Given the description of an element on the screen output the (x, y) to click on. 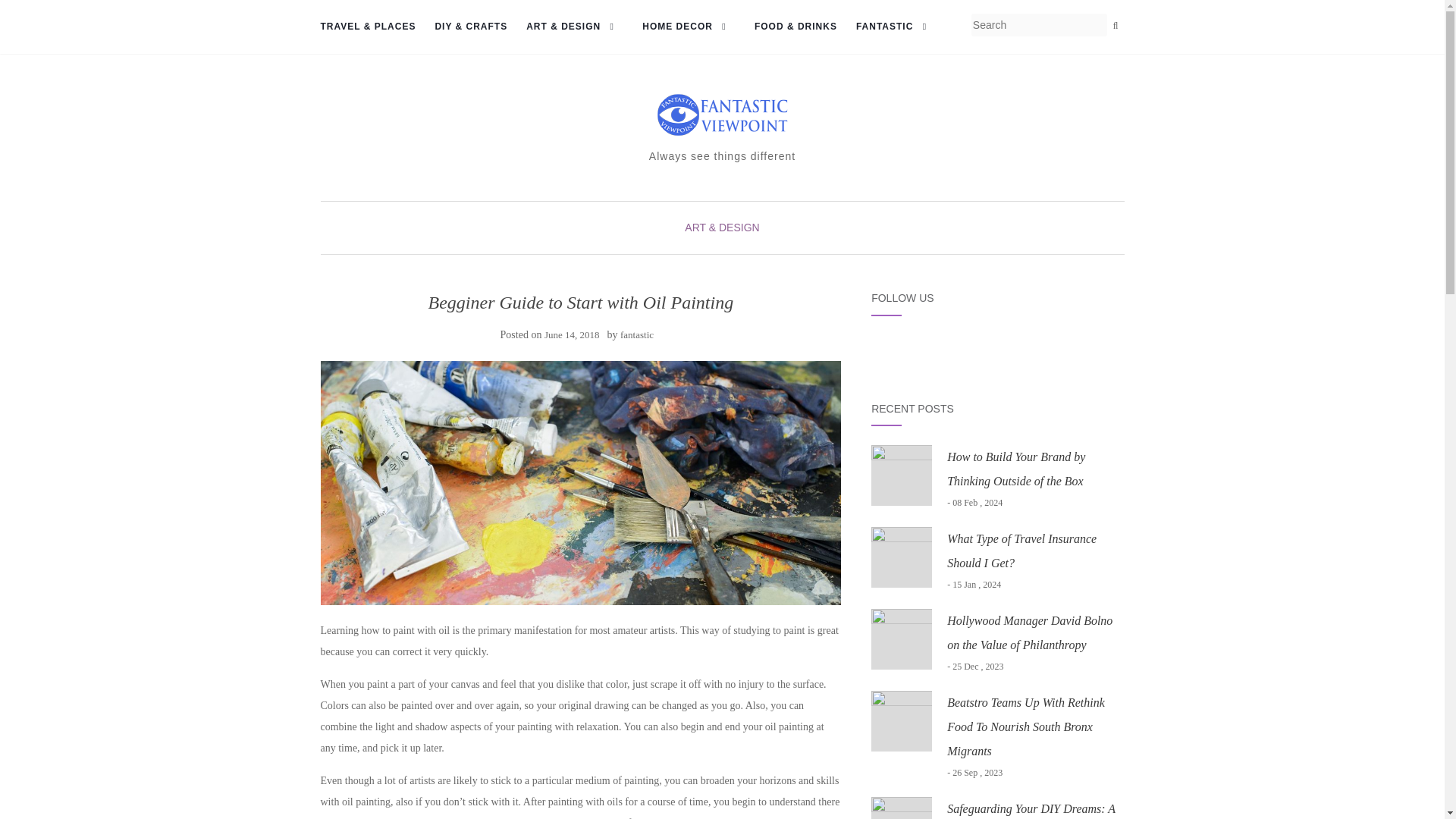
HOME DECOR (688, 27)
June 14, 2018 (571, 334)
fantastic (636, 334)
FANTASTIC (896, 27)
Fantastic (896, 27)
Home Decor (688, 27)
